Given the description of an element on the screen output the (x, y) to click on. 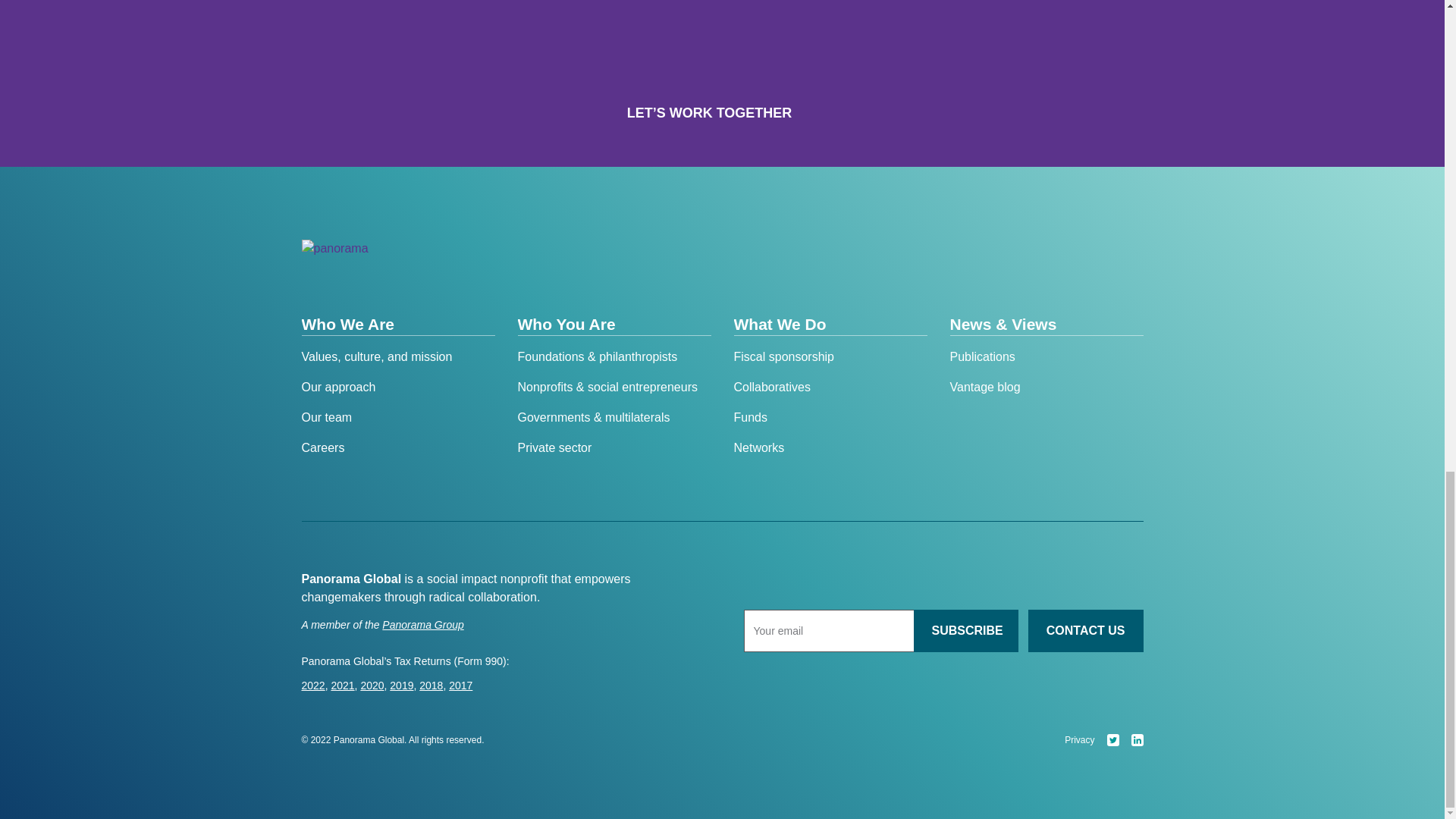
Our team (398, 417)
Our approach (398, 387)
Fiscal sponsorship (830, 357)
Private sector (613, 447)
Careers (398, 447)
What We Do (830, 324)
Who We Are (398, 324)
Who You Are (613, 324)
Collaboratives (830, 387)
SUBSCRIBE (964, 630)
Values, culture, and mission (398, 357)
